Given the description of an element on the screen output the (x, y) to click on. 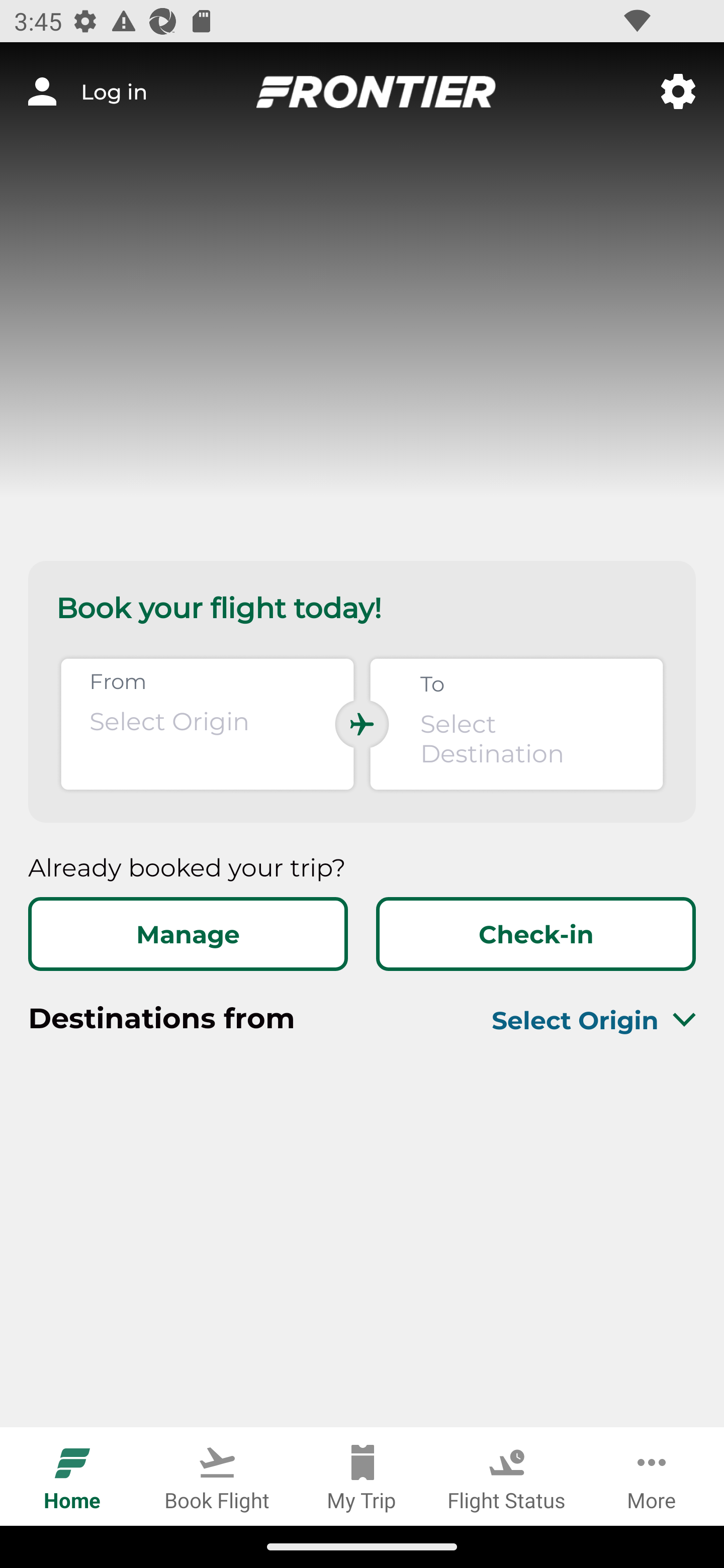
Log in (87, 91)
From Select Origin (207, 723)
To Select Destination (516, 723)
Manage (188, 933)
Check-in (535, 933)
Select Origin (570, 1019)
Book Flight (216, 1475)
My Trip (361, 1475)
Flight Status (506, 1475)
More (651, 1475)
